Given the description of an element on the screen output the (x, y) to click on. 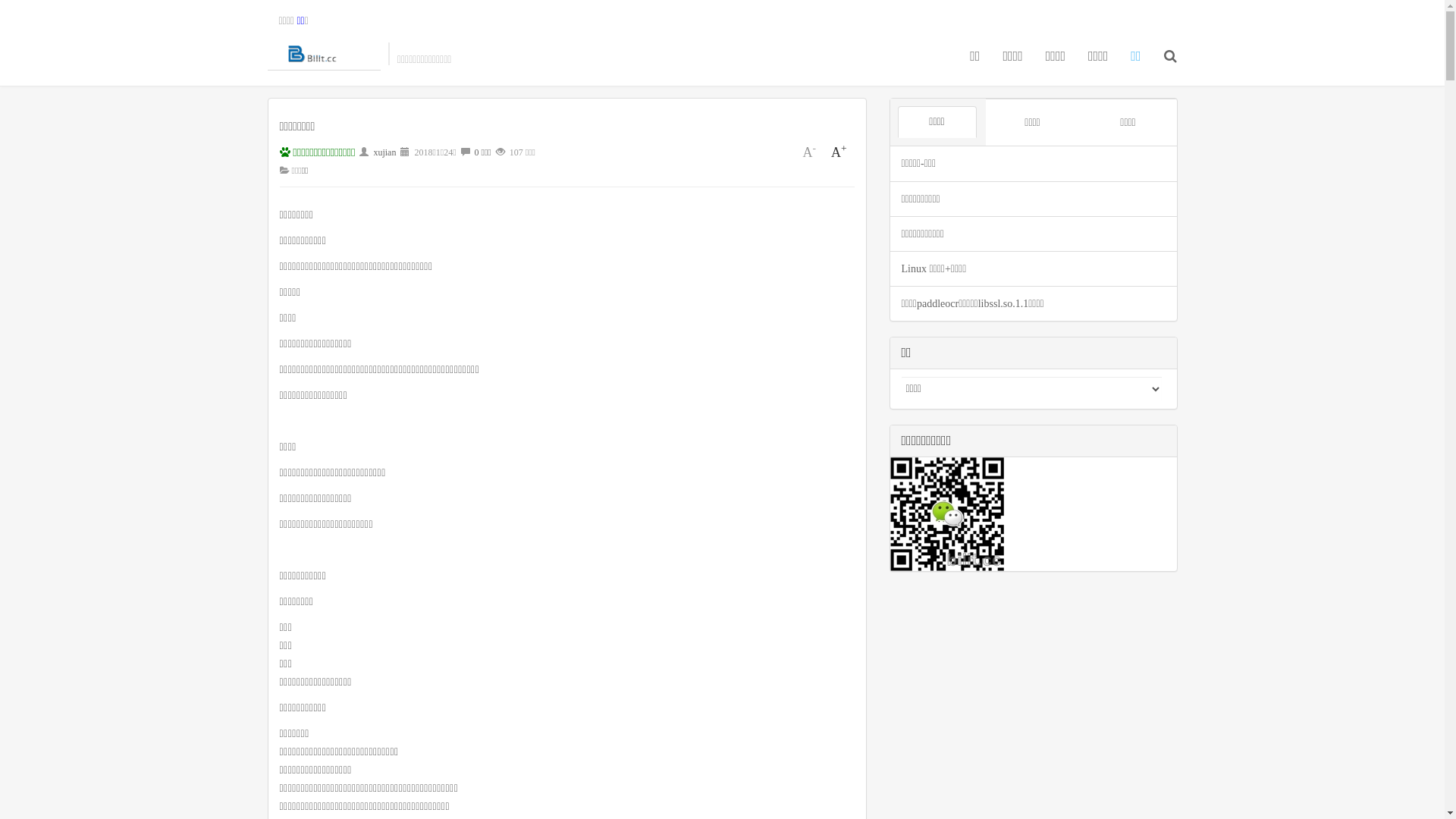
xujian Element type: text (384, 152)
